Given the description of an element on the screen output the (x, y) to click on. 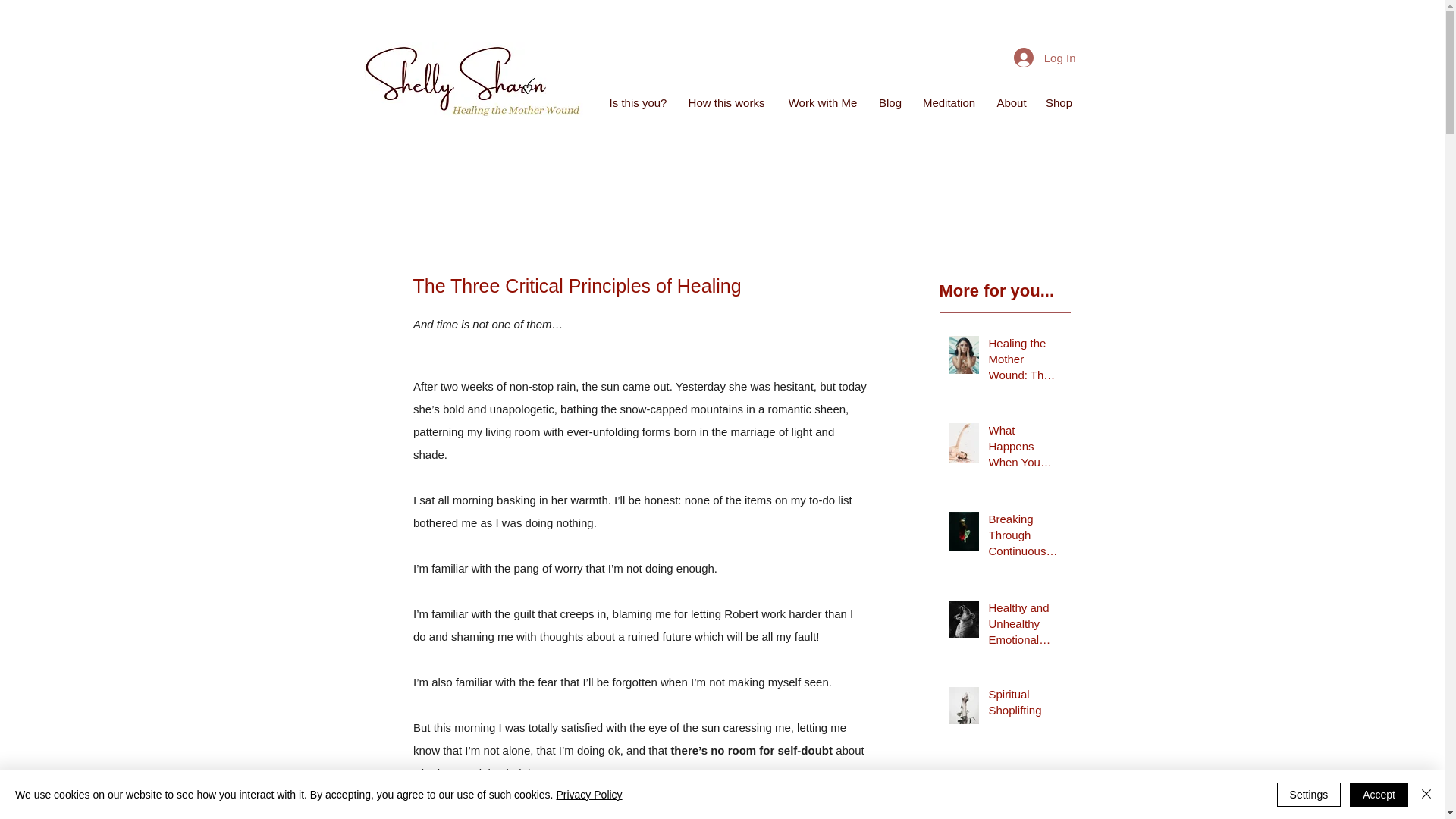
What Happens When You Heal the Mother Wound (1024, 448)
Healing the Mother Wound: The First Steps (1024, 361)
Shop (1057, 102)
Log In (1044, 57)
Is this you? (638, 102)
Spiritual Shoplifting (1024, 704)
Breaking Through Continuous Anxiety (1024, 538)
Blog (890, 102)
Healthy and Unhealthy Emotional Security (1024, 626)
How this works (726, 102)
